Given the description of an element on the screen output the (x, y) to click on. 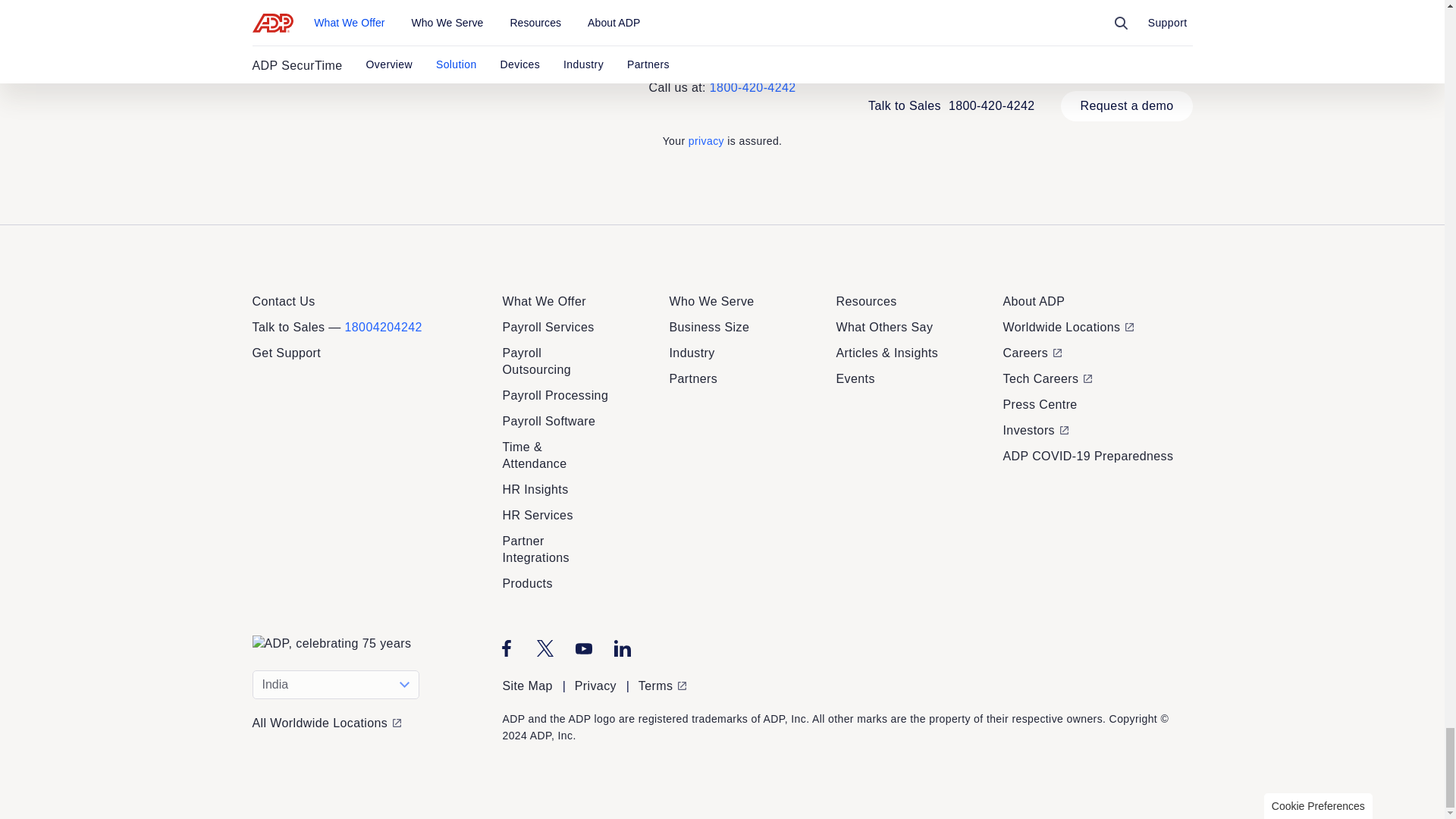
Yes (739, 707)
Demo (671, 379)
Quote (611, 379)
No (785, 707)
Sales question (737, 379)
